Given the description of an element on the screen output the (x, y) to click on. 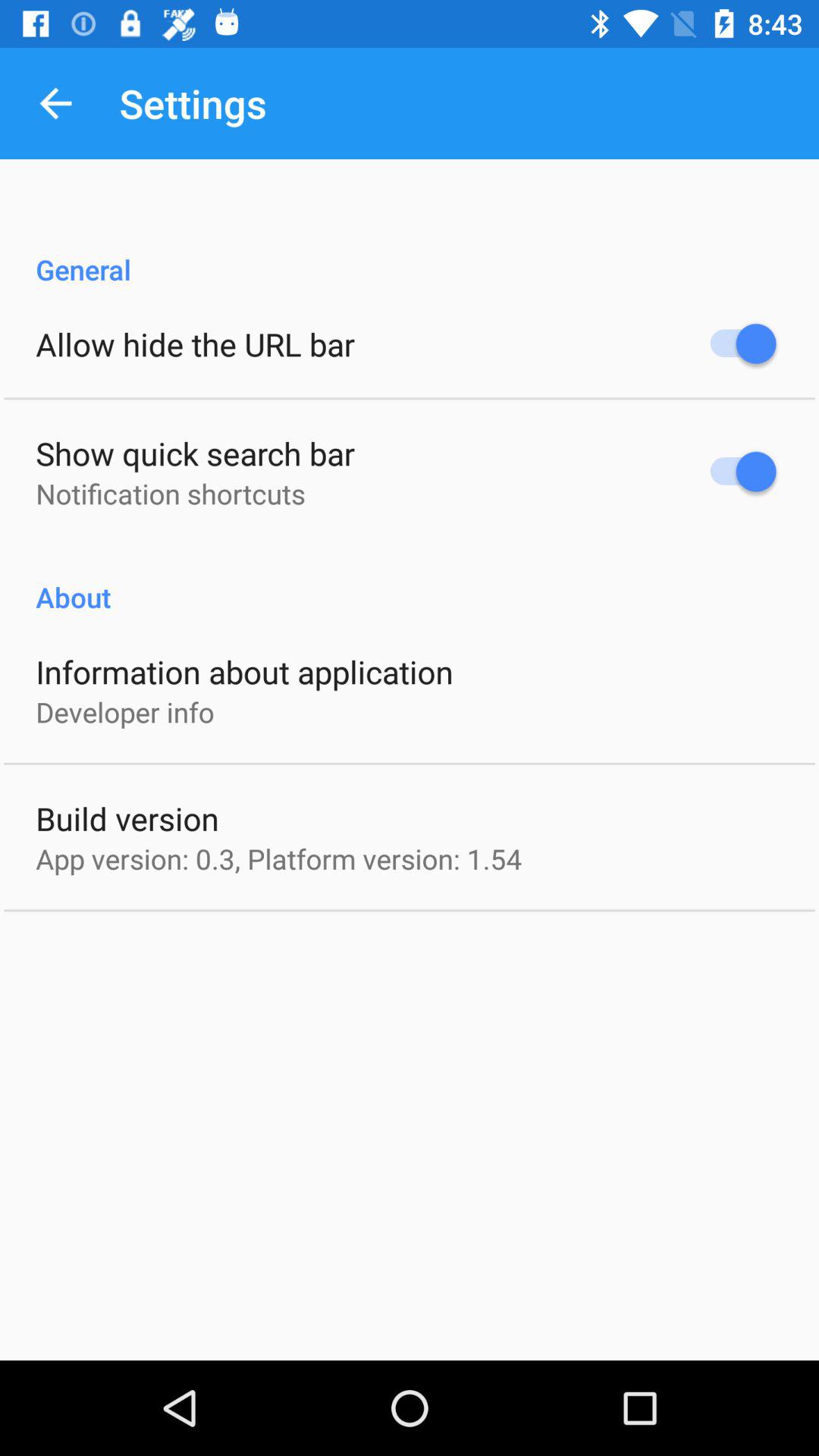
press the item below general item (194, 343)
